Given the description of an element on the screen output the (x, y) to click on. 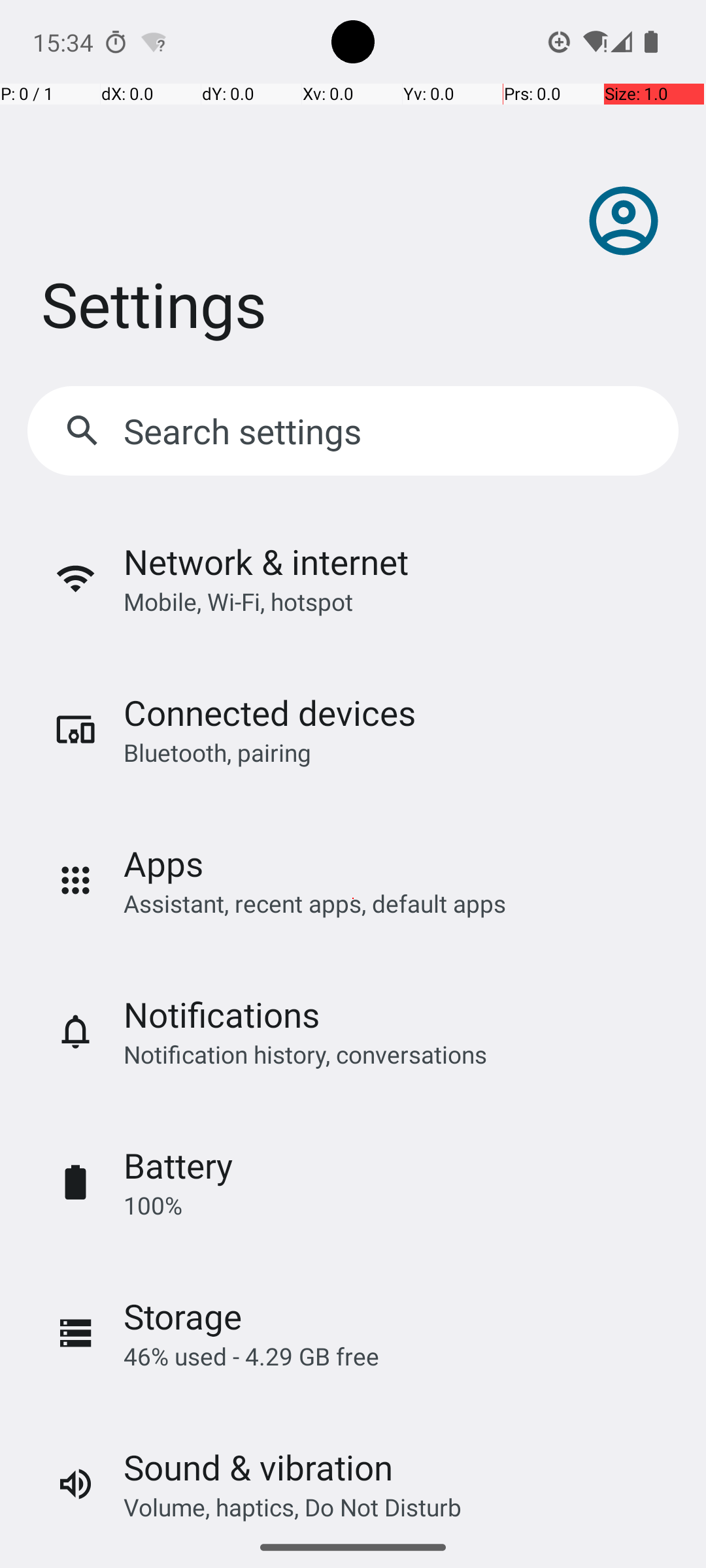
46% used - 4.29 GB free Element type: android.widget.TextView (251, 1355)
